Given the description of an element on the screen output the (x, y) to click on. 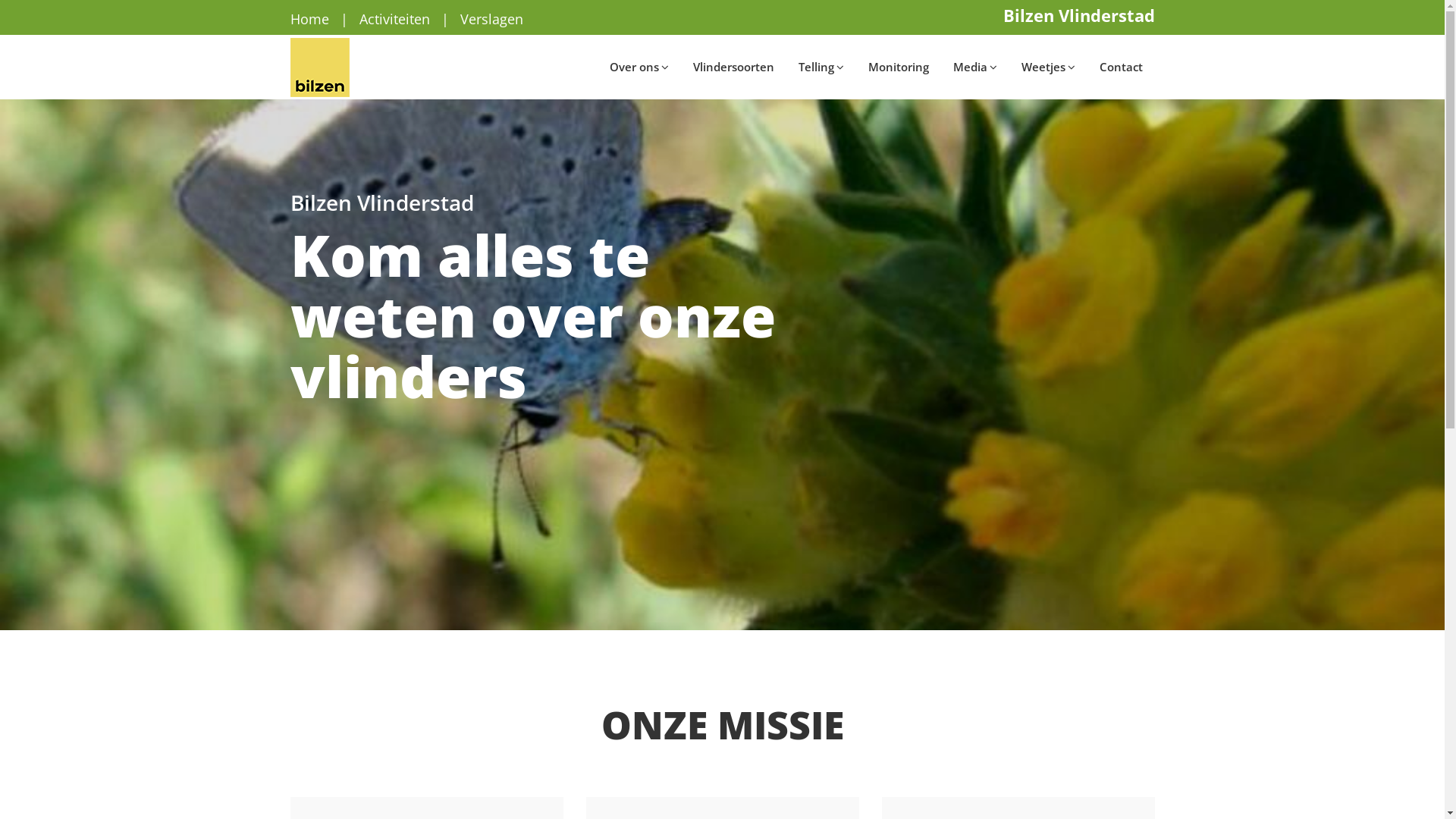
Verslagen Element type: text (490, 18)
Vlindersoorten Element type: text (733, 67)
Telling Element type: text (820, 67)
Home Element type: text (308, 18)
Activiteiten Element type: text (394, 18)
Contact Element type: text (1120, 67)
Monitoring Element type: text (897, 67)
Over ons Element type: text (638, 67)
Weetjes Element type: text (1047, 67)
Media Element type: text (974, 67)
